Given the description of an element on the screen output the (x, y) to click on. 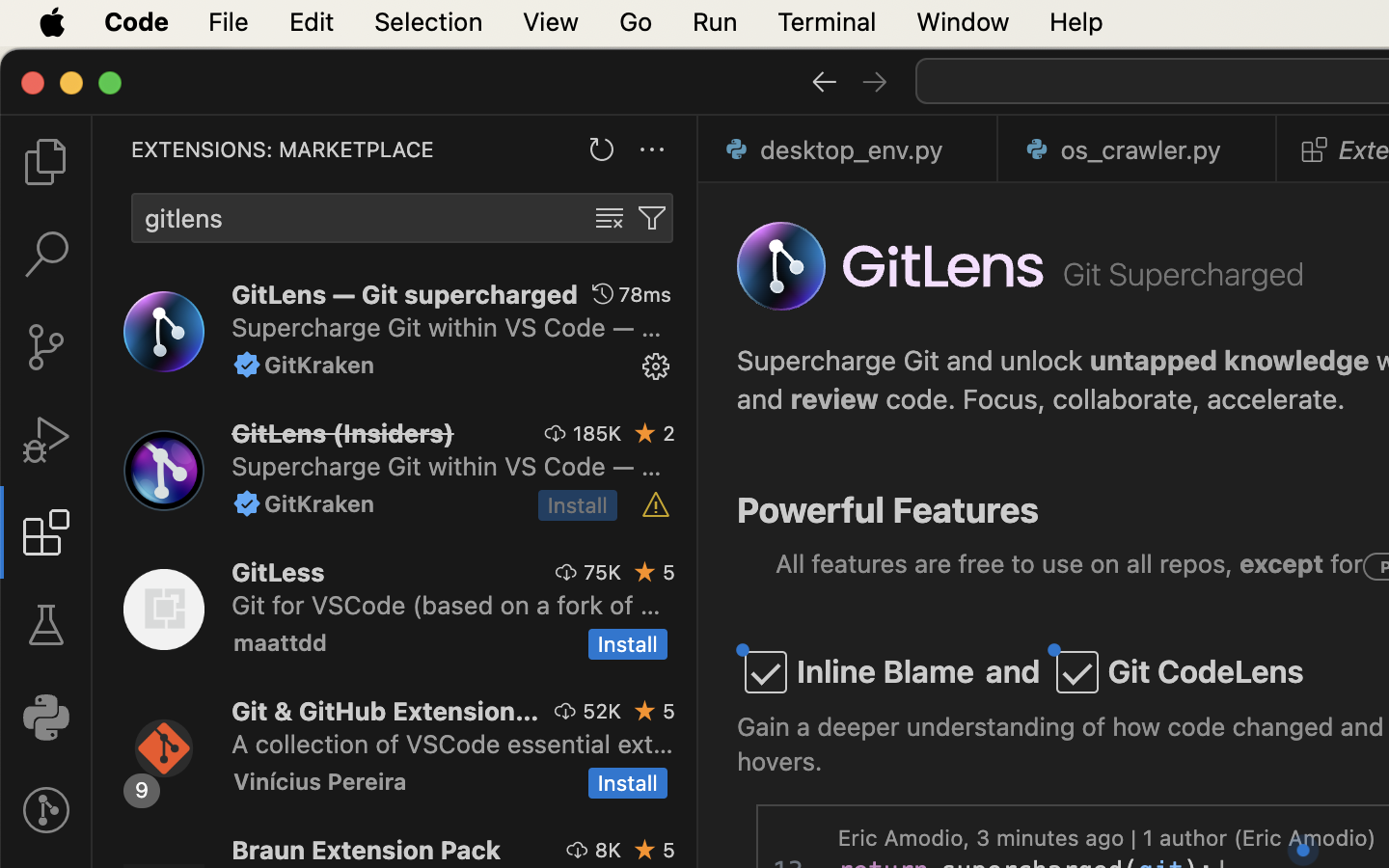
 Element type: AXGroup (46, 161)
GitLess Element type: AXStaticText (278, 571)
0  Element type: AXRadioButton (46, 346)
 Element type: AXButton (824, 80)
 Element type: AXStaticText (246, 364)
